Given the description of an element on the screen output the (x, y) to click on. 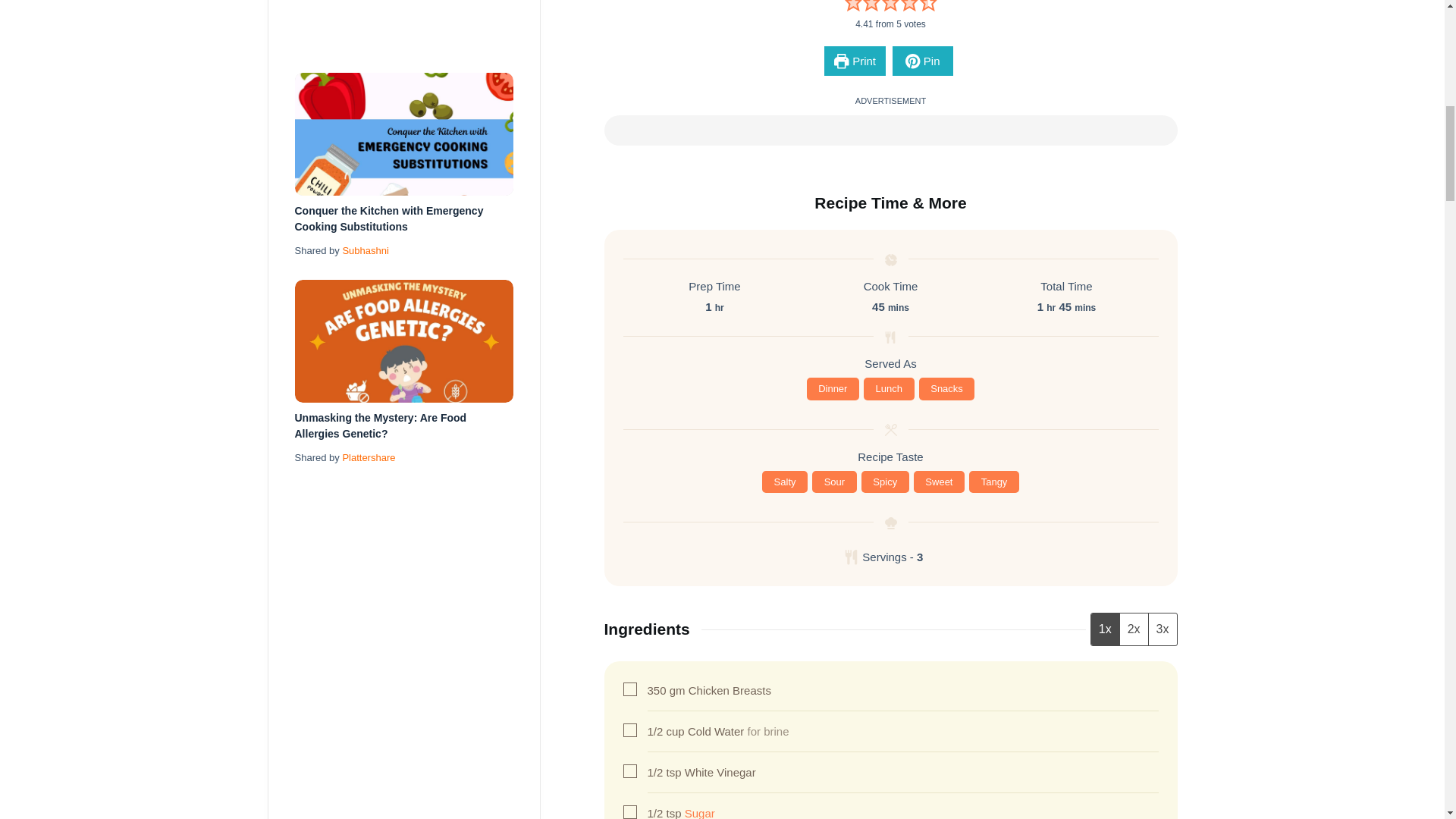
Dinner (832, 388)
Print (854, 60)
Snacks (946, 388)
Pin (922, 60)
Salty (784, 481)
Lunch (888, 388)
